Given the description of an element on the screen output the (x, y) to click on. 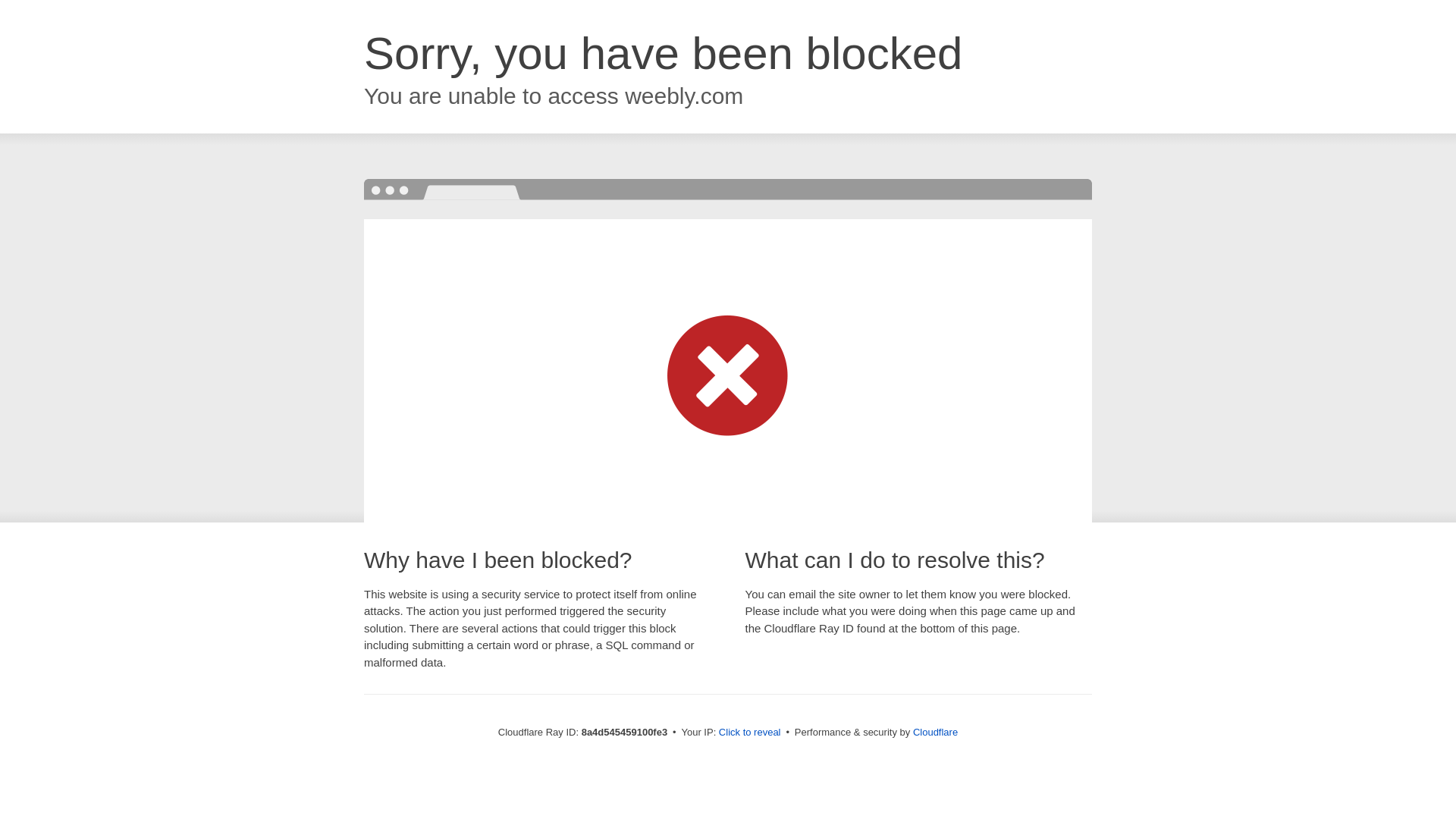
Cloudflare (935, 731)
Click to reveal (749, 732)
